Given the description of an element on the screen output the (x, y) to click on. 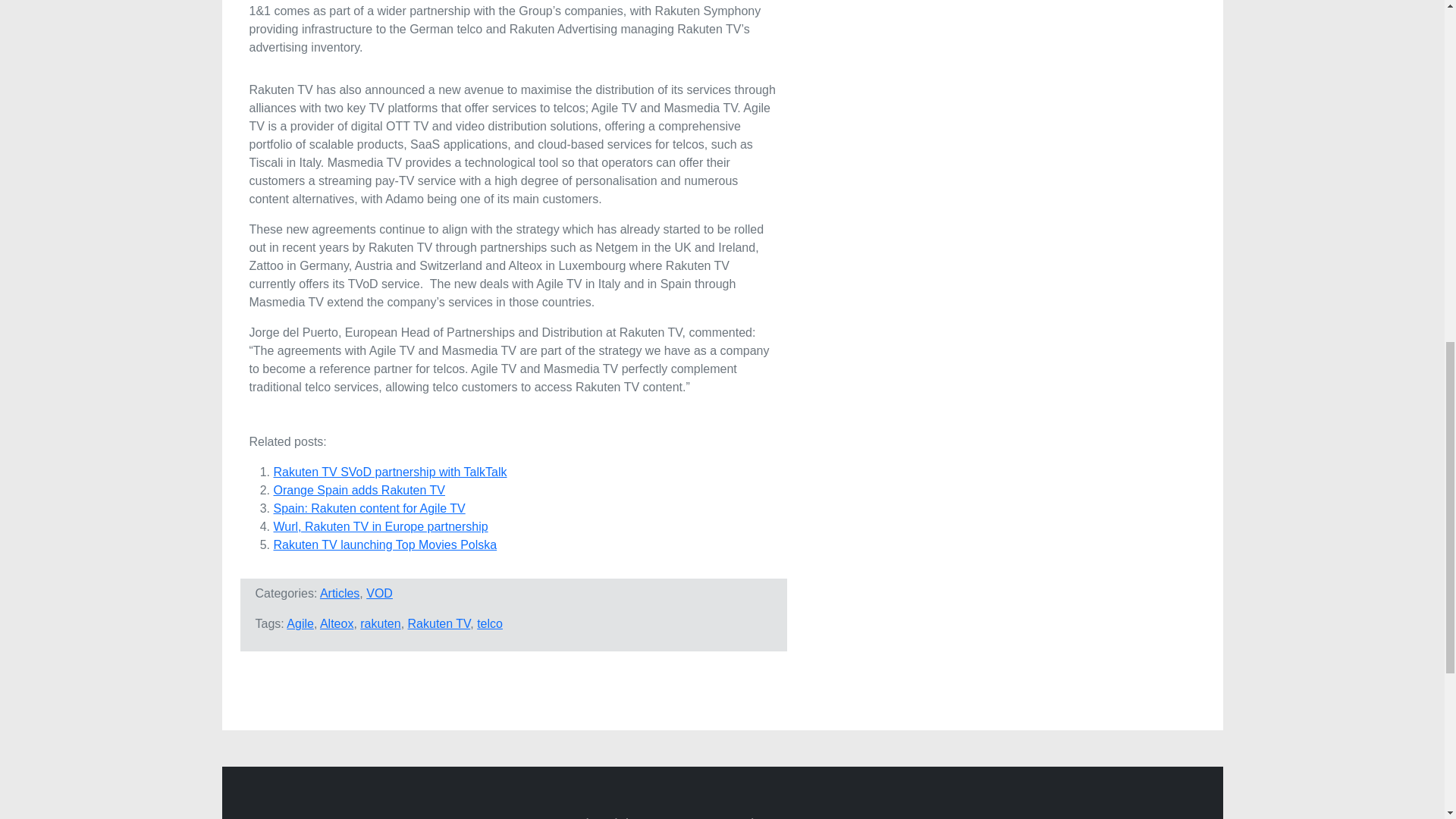
Alteox (336, 623)
Articles (339, 593)
Advanced Television Ltd  (382, 816)
Rakuten TV (438, 623)
telco (489, 623)
Orange Spain adds Rakuten TV (359, 490)
Agile (300, 623)
Rakuten TV launching Top Movies Polska (384, 544)
Spain: Rakuten content for Agile TV (368, 508)
Spain: Rakuten content for Agile TV (368, 508)
Wurl, Rakuten TV in Europe partnership (380, 526)
rakuten (379, 623)
Rakuten TV launching Top Movies Polska (384, 544)
Wurl, Rakuten TV in Europe partnership (380, 526)
Orange Spain adds Rakuten TV (359, 490)
